Given the description of an element on the screen output the (x, y) to click on. 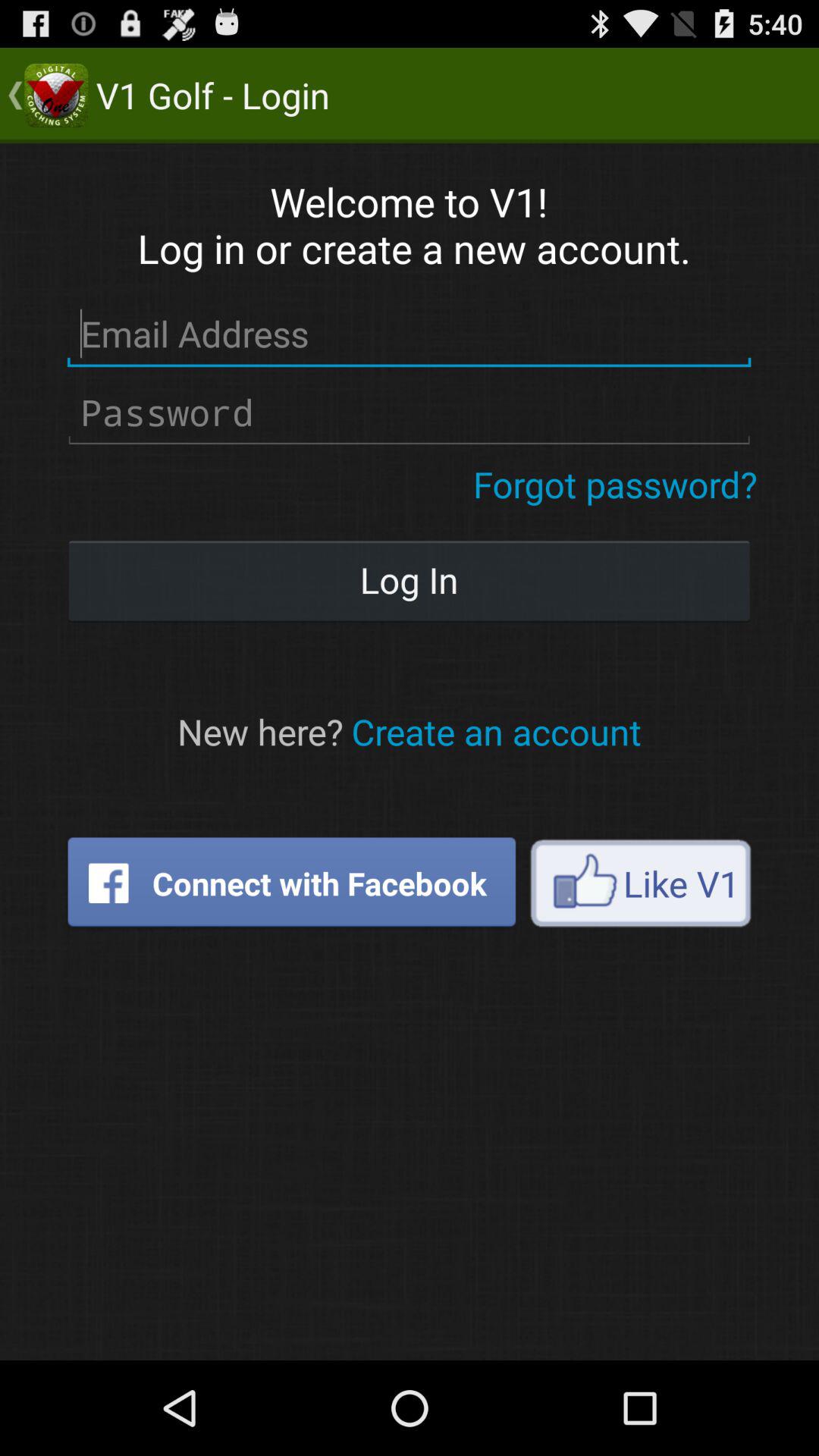
click the facebook button (291, 883)
